Given the description of an element on the screen output the (x, y) to click on. 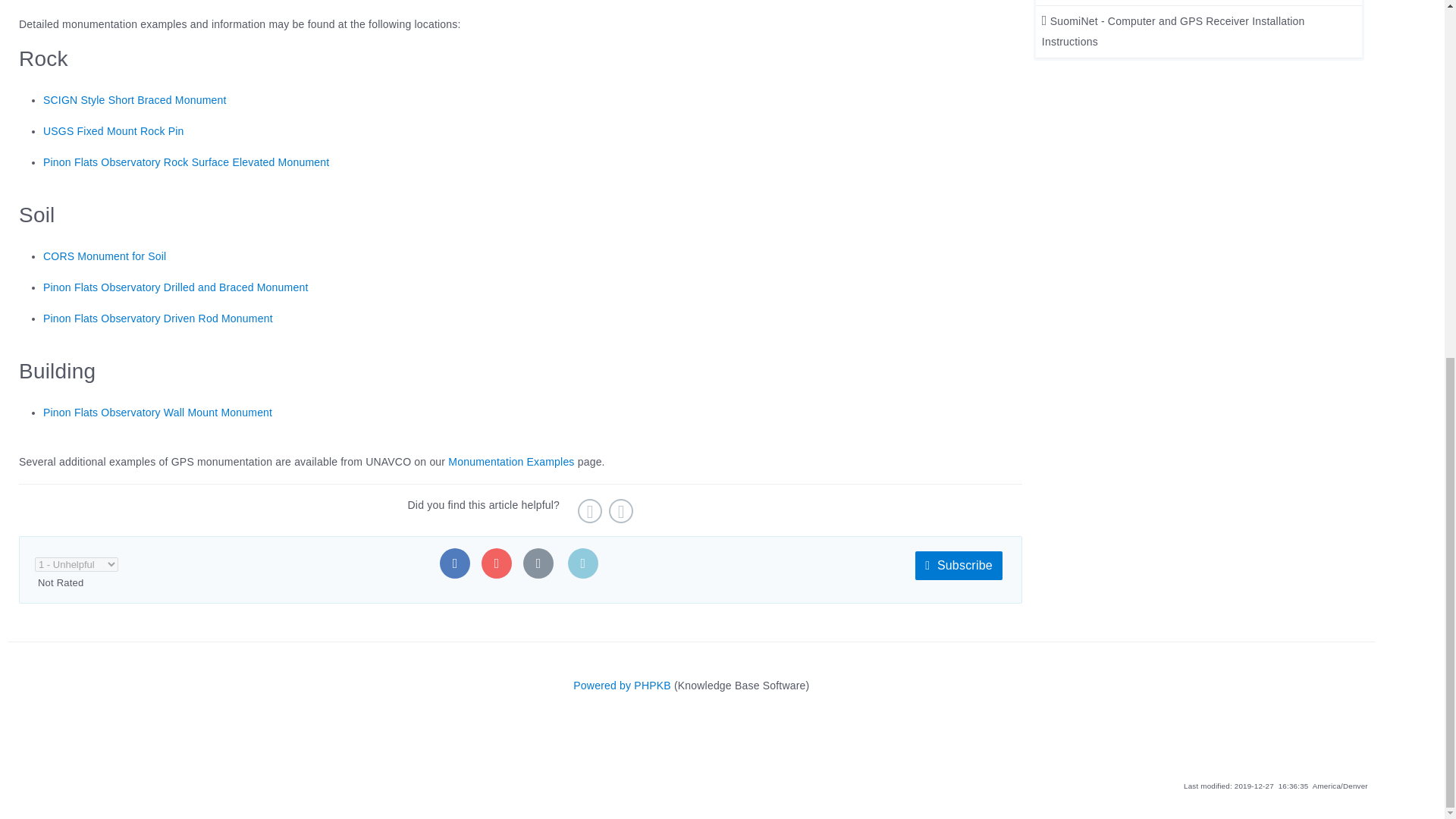
Knowledge Management Software (621, 685)
